Given the description of an element on the screen output the (x, y) to click on. 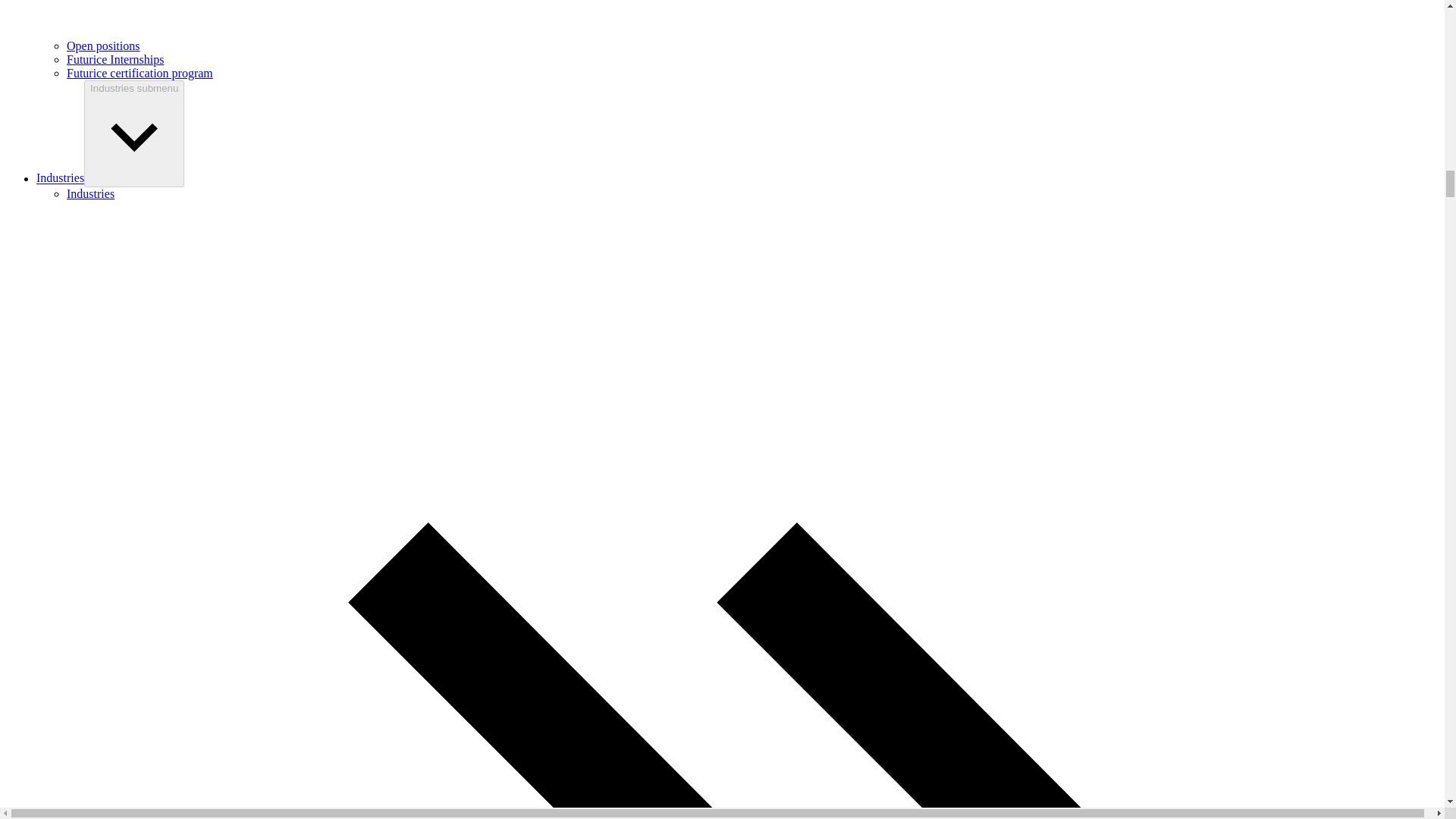
Careers (752, 19)
Futurice certification program (139, 72)
Industries (60, 178)
Industries submenu (134, 133)
Futurice Internships (114, 59)
Open positions (102, 45)
